Given the description of an element on the screen output the (x, y) to click on. 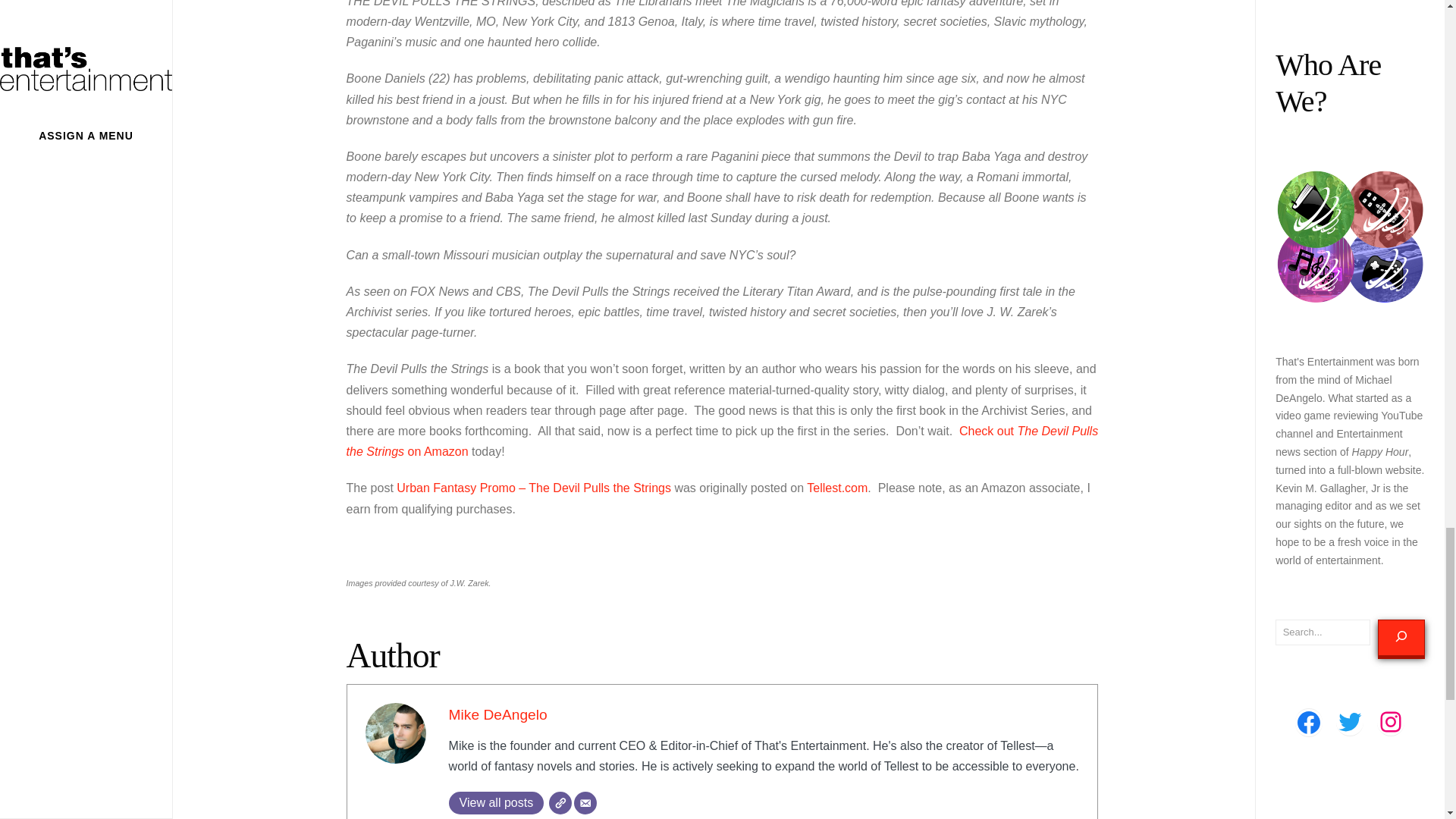
View all posts (496, 802)
Mike DeAngelo (497, 714)
Check out The Devil Pulls the Strings on Amazon (722, 441)
Tellest.com (836, 487)
Mike DeAngelo (497, 714)
View all posts (496, 802)
